Given the description of an element on the screen output the (x, y) to click on. 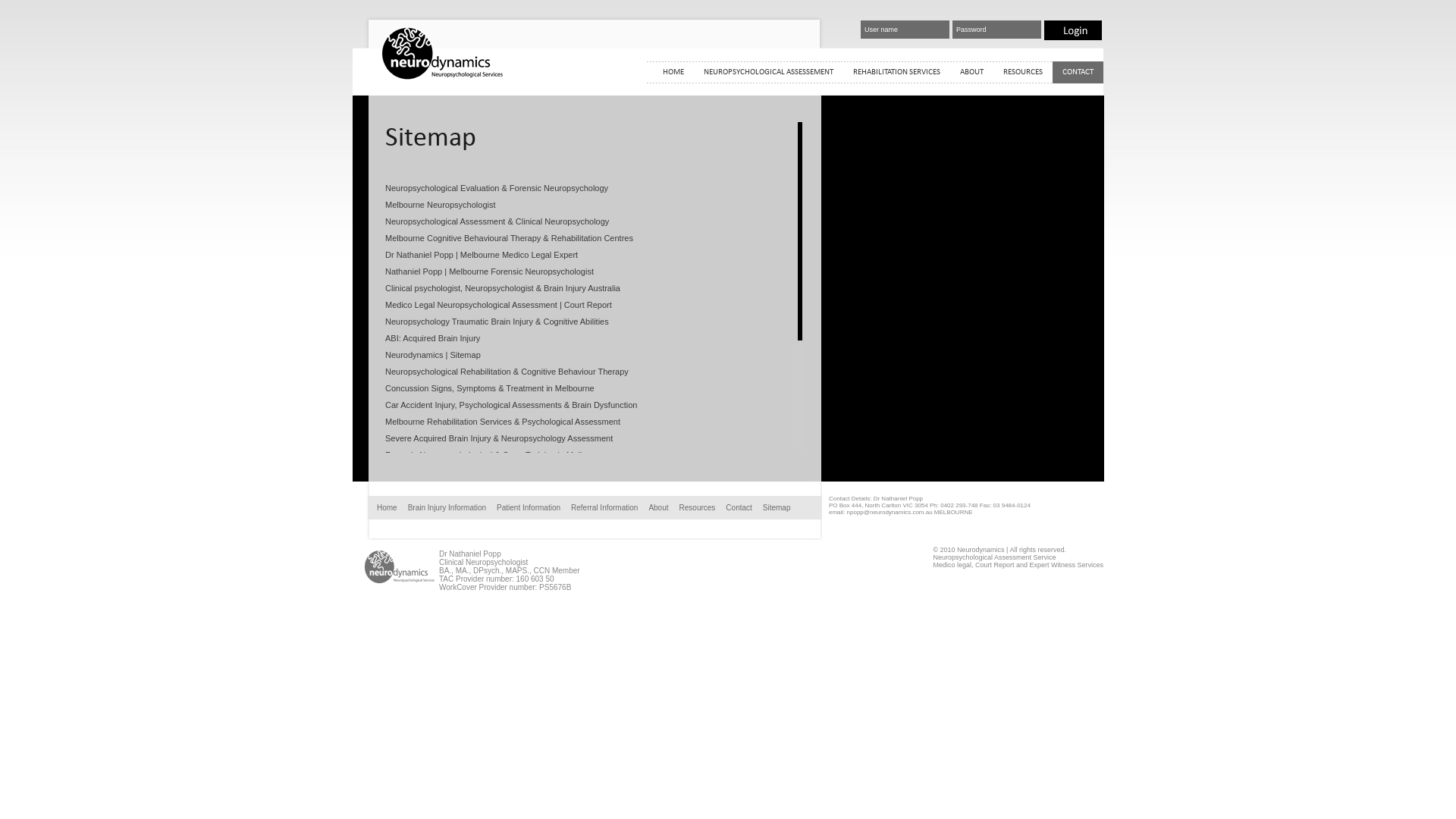
Nathaniel Popp | Melbourne Forensic Neuropsychologist Element type: text (489, 271)
Neuropsychology Traumatic Brain Injury & Cognitive Abilities Element type: text (496, 321)
Contact Element type: text (738, 507)
Concussion Signs, Symptoms & Treatment in Melbourne Element type: text (489, 387)
Dr Nathaniel Popp | Melbourne Medico Legal Expert Element type: text (481, 254)
Home Element type: text (386, 507)
Melbourne Rehabilitation Services & Psychological Assessment Element type: text (502, 421)
Neuropsychological Evaluation & Forensic Neuropsychology Element type: text (496, 187)
REHABILITATION SERVICES Element type: text (896, 72)
Neuropsychological Assessment & Clinical Neuropsychology Element type: text (496, 220)
Forensic Neuropsychological & Carer Training in Melbourne Element type: text (495, 454)
Referral Information Element type: text (604, 507)
ABI: Acquired Brain Injury Element type: text (432, 337)
Neurodynamics | Sitemap Element type: text (432, 354)
forensic neuropsychologist Element type: hover (441, 76)
Patient Information Element type: text (528, 507)
Medico Legal Neuropsychological Assessment | Court Report Element type: text (498, 304)
Severe Acquired Brain Injury & Neuropsychology Assessment Element type: text (498, 437)
CONTACT Element type: text (1077, 72)
NEUROPSYCHOLOGICAL ASSESSEMENT Element type: text (768, 72)
ABOUT Element type: text (971, 72)
About Element type: text (658, 507)
Melbourne Neuropsychologist Element type: text (440, 204)
Brain Injury Information Element type: text (446, 507)
RESOURCES Element type: text (1022, 72)
HOME Element type: text (672, 72)
Sitemap Element type: text (776, 507)
Resources Element type: text (697, 507)
